Given the description of an element on the screen output the (x, y) to click on. 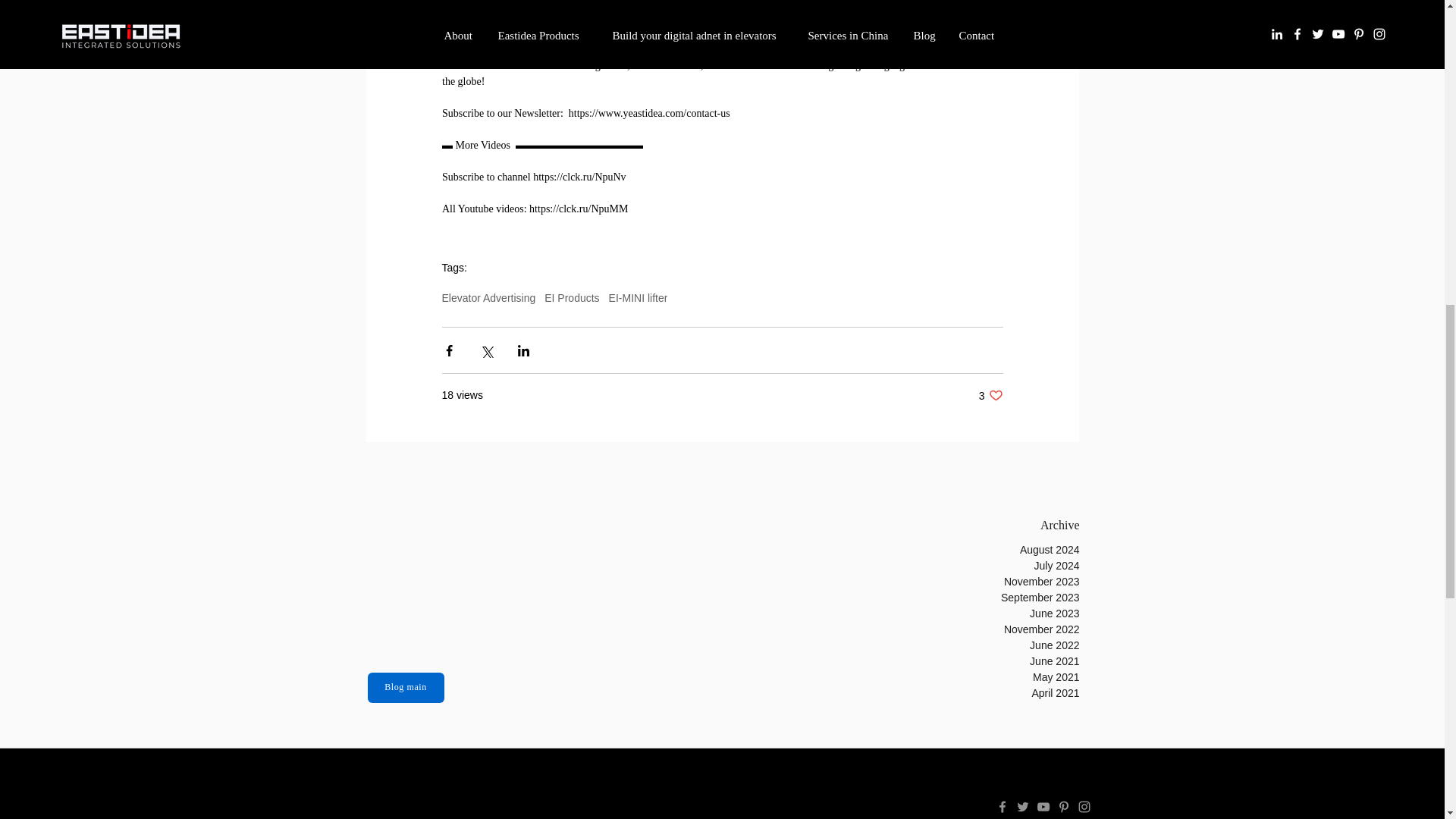
Blog main (405, 687)
Elevator Advertising (488, 297)
November 2023 (1028, 581)
November 2022 (1028, 629)
September 2023 (1028, 597)
June 2021 (1028, 661)
June 2023 (1028, 613)
July 2024 (1028, 565)
EI-MINI lifter (990, 395)
